Given the description of an element on the screen output the (x, y) to click on. 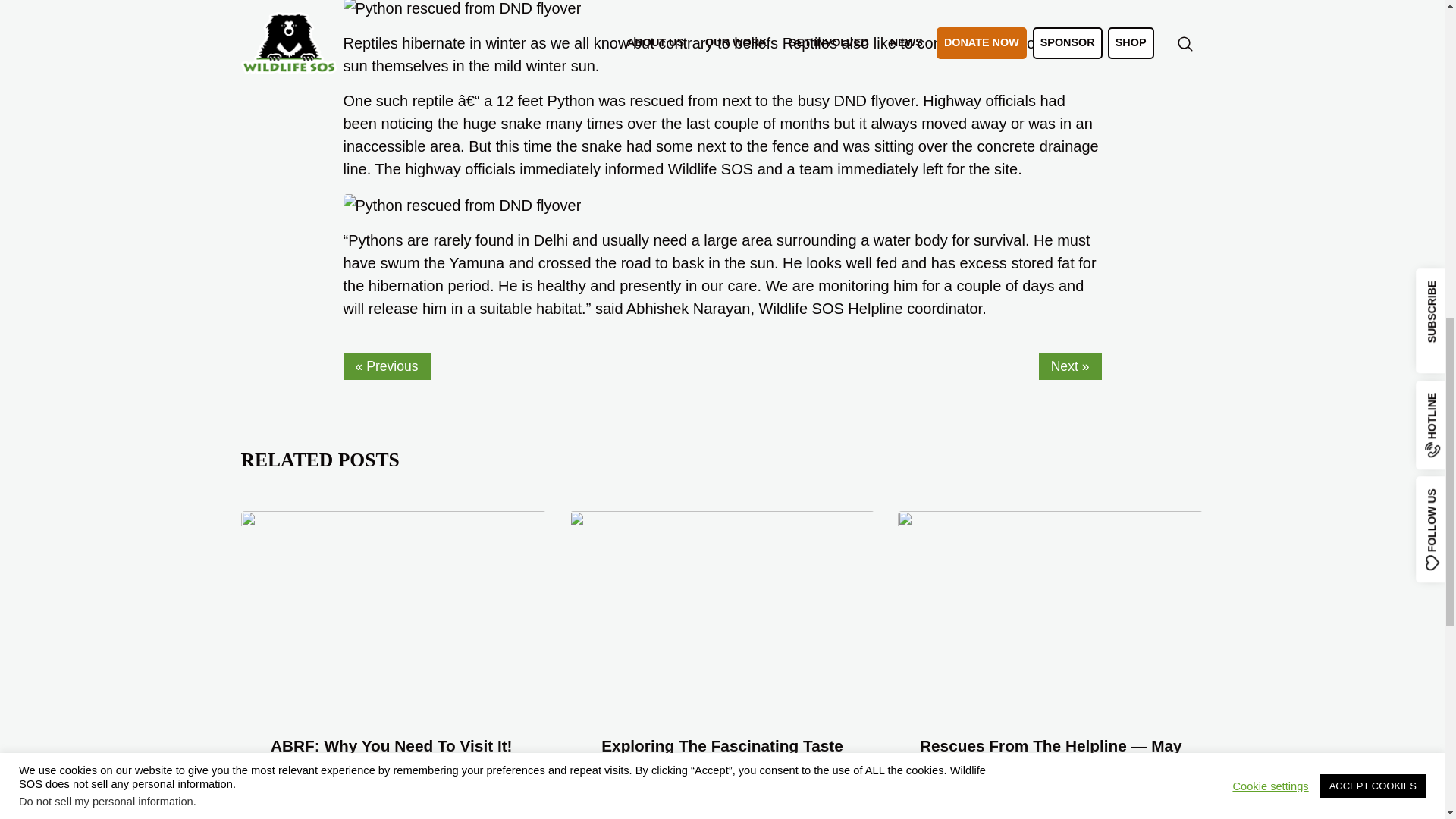
Python rescued from DND flyover (461, 205)
Python rescued from DND flyover (461, 9)
